Given the description of an element on the screen output the (x, y) to click on. 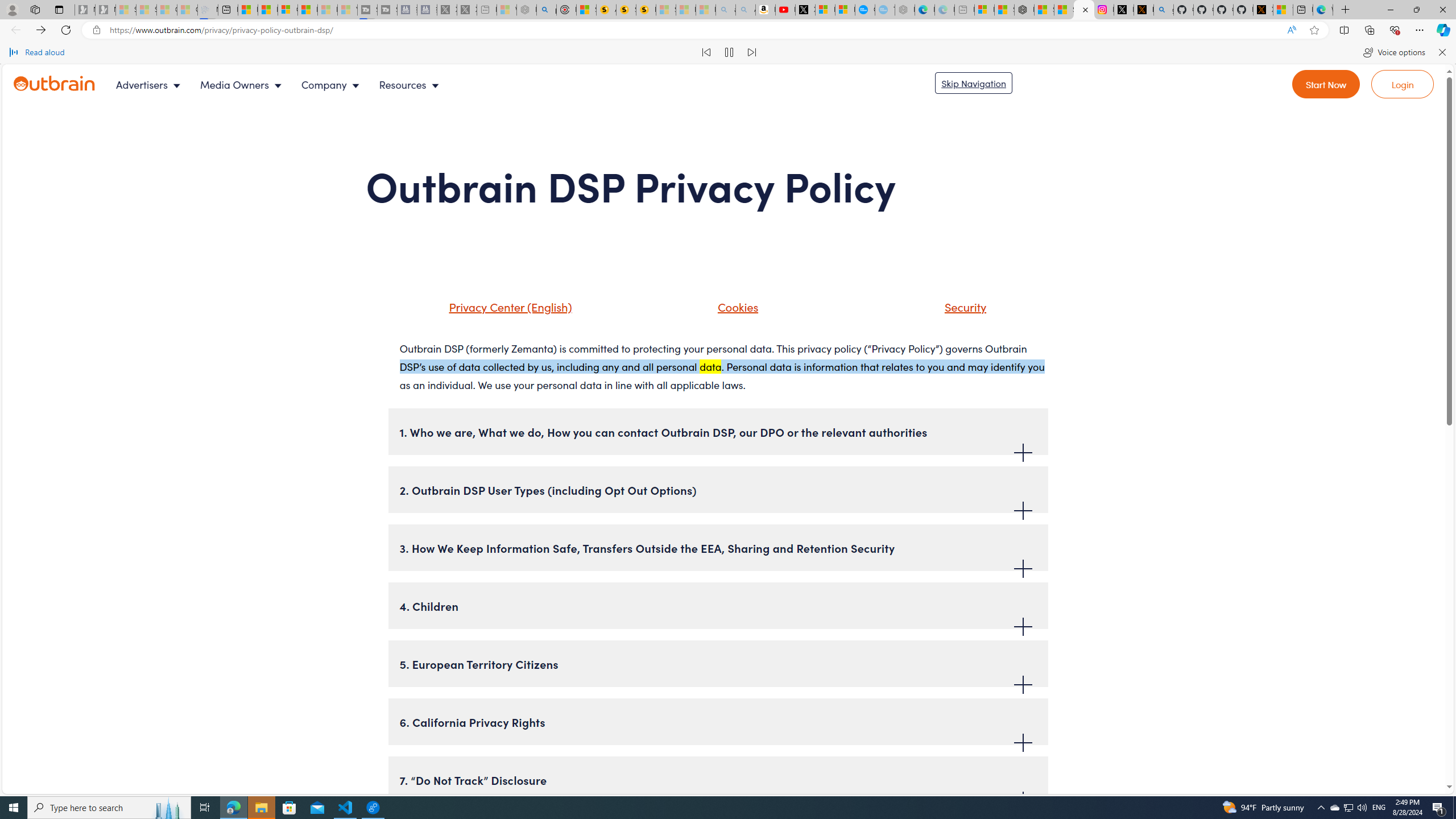
Company (333, 84)
Read next paragraph (750, 52)
Privacy Center (English) (495, 311)
